Given the description of an element on the screen output the (x, y) to click on. 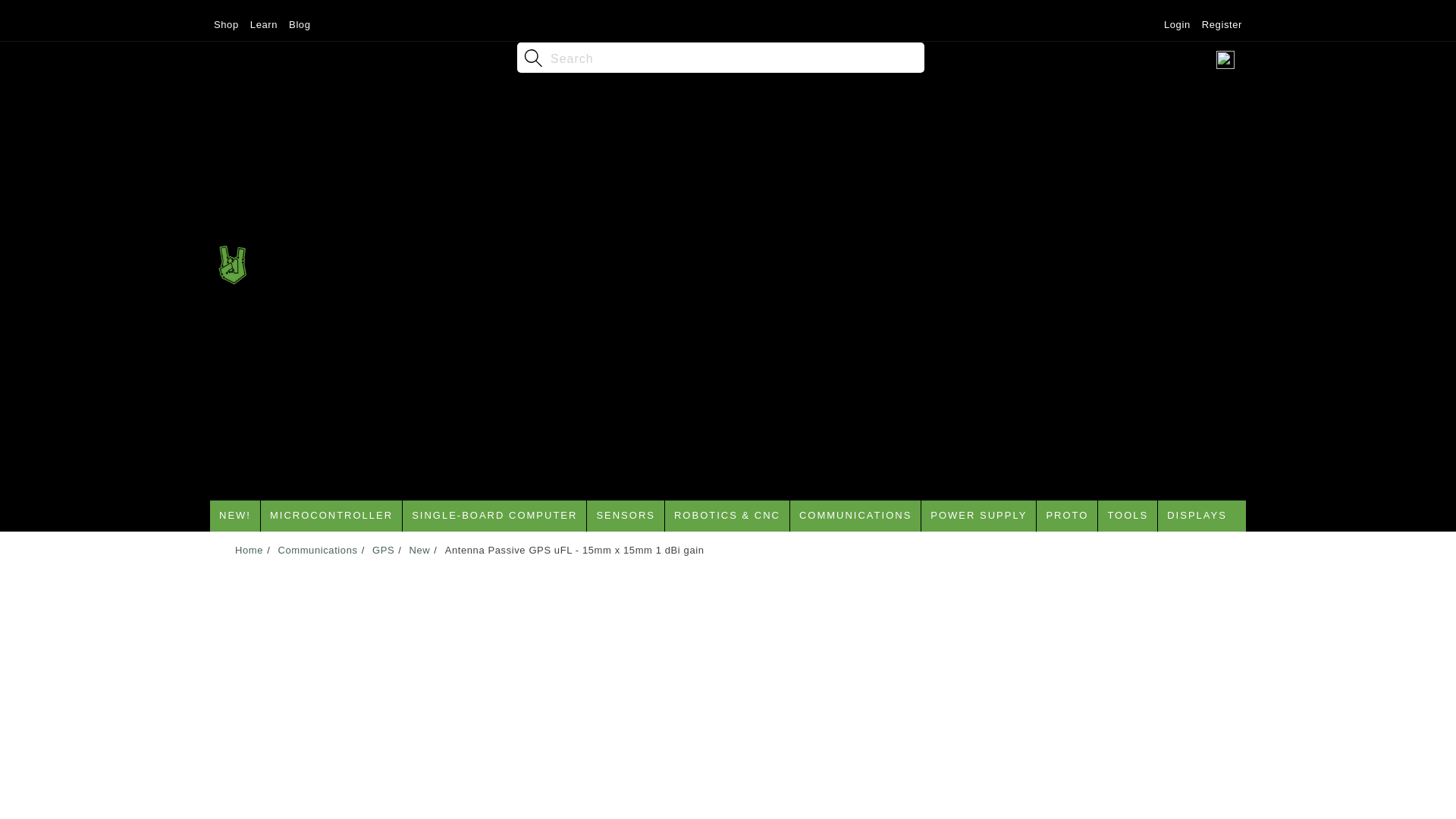
Cart (1224, 56)
DISPLAYS (1196, 515)
PROTO (1066, 515)
NEW! (234, 515)
SINGLE-BOARD COMPUTER (494, 515)
Learn (263, 23)
SENSORS (624, 515)
Register (1222, 23)
Log in (1115, 56)
COMMUNICATIONS (855, 515)
Skip to content (45, 17)
Shop (226, 23)
Login (1176, 23)
MICROCONTROLLER (330, 515)
TOOLS (1127, 515)
